Given the description of an element on the screen output the (x, y) to click on. 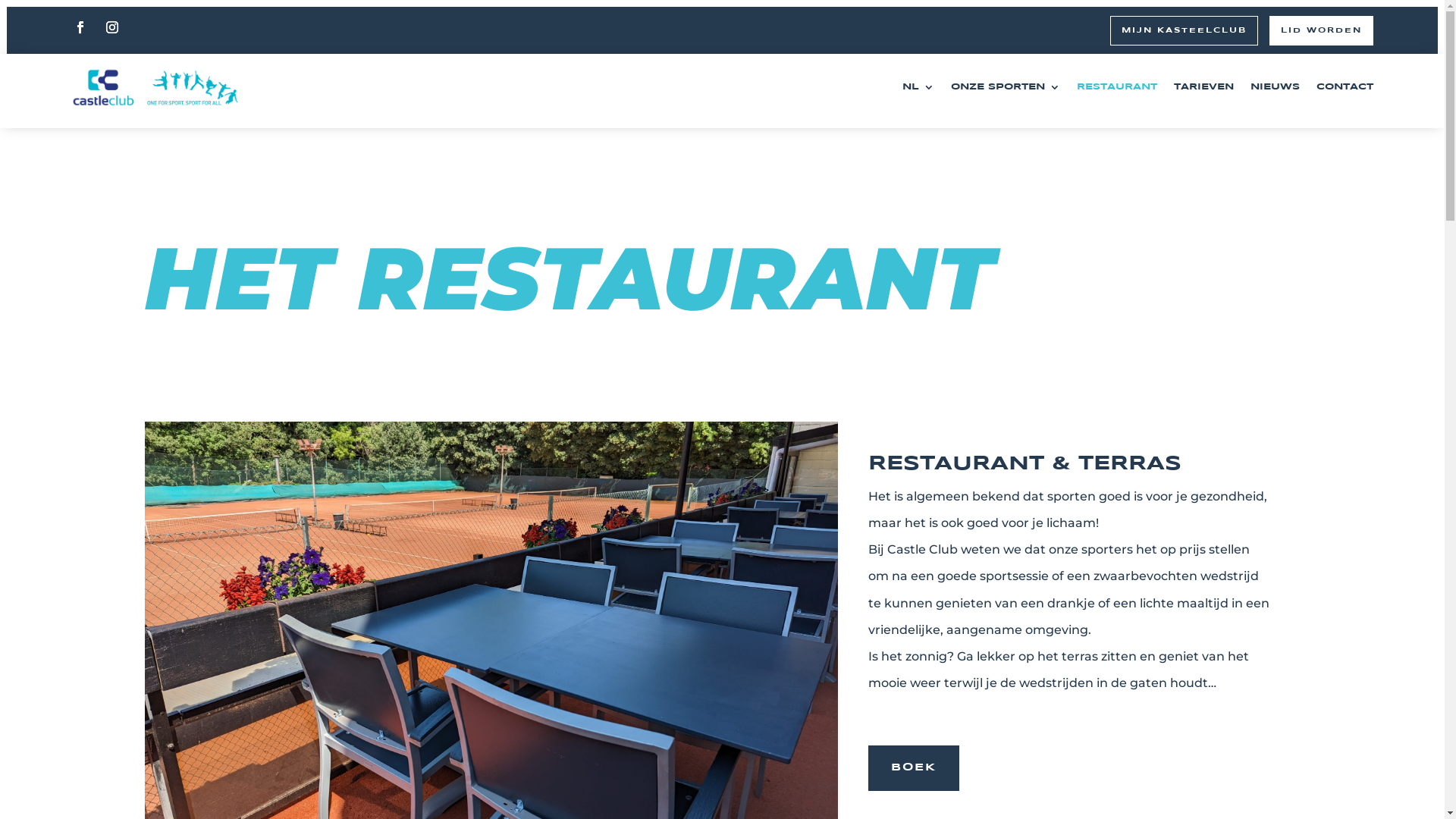
NIEUWS Element type: text (1274, 87)
RESTAURANT Element type: text (1116, 87)
CONTACT Element type: text (1344, 87)
TARIEVEN Element type: text (1203, 87)
LID WORDEN Element type: text (1321, 29)
BOEK Element type: text (913, 767)
NL Element type: text (918, 87)
Volg op Facebook Element type: hover (80, 27)
MIJN KASTEELCLUB Element type: text (1184, 29)
ONZE SPORTEN Element type: text (1005, 87)
Volg op Instagram Element type: hover (112, 27)
